Given the description of an element on the screen output the (x, y) to click on. 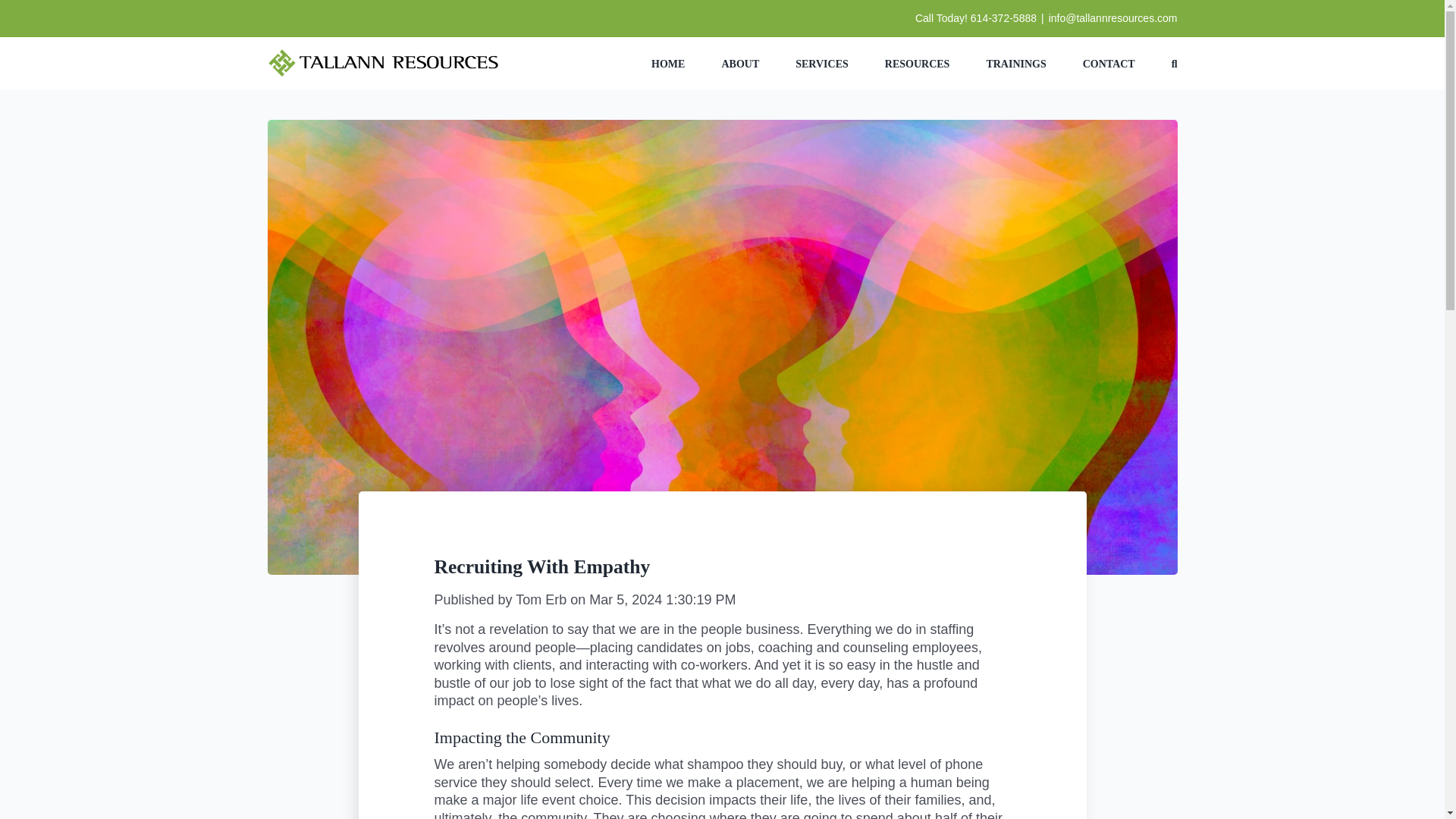
RESOURCES (917, 62)
Tom Erb (540, 599)
CONTACT (1109, 62)
Tallann Resources (381, 62)
TRAININGS (1015, 62)
SERVICES (821, 62)
